Given the description of an element on the screen output the (x, y) to click on. 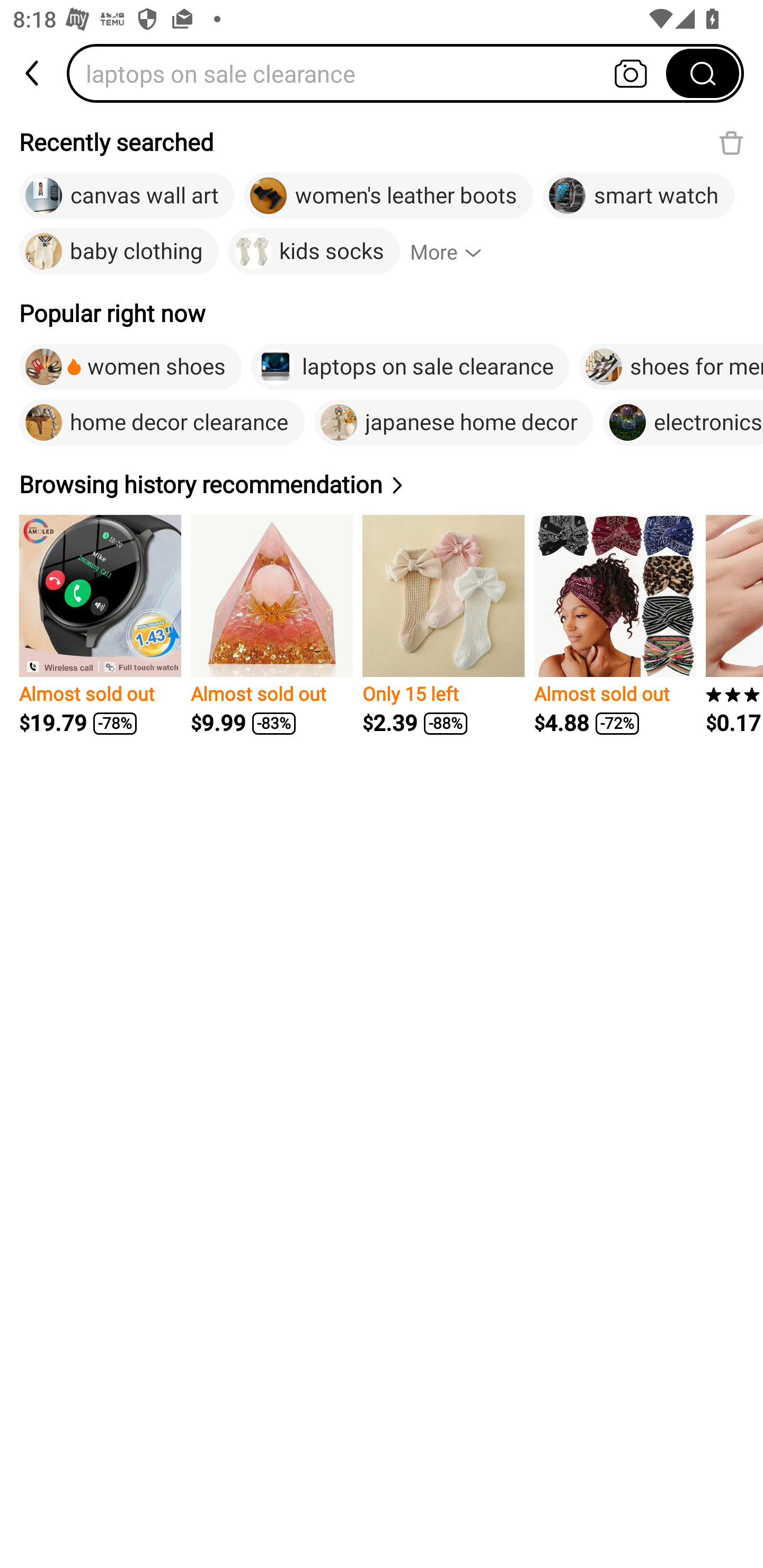
back (33, 72)
laptops on sale clearance (372, 73)
Search by photo (630, 73)
Delete recent search (731, 142)
canvas wall art (126, 195)
women's leather boots (388, 195)
smart watch (638, 195)
baby clothing (118, 251)
kids socks (313, 251)
More (453, 251)
women shoes (130, 366)
laptops on sale clearance (410, 366)
shoes for men (671, 366)
home decor clearance (161, 422)
japanese home decor (453, 422)
electronics (682, 422)
Browsing history recommendation (213, 484)
Almost sold out $19.79 -78% (100, 625)
Almost sold out $9.99 -83% (271, 625)
